Given the description of an element on the screen output the (x, y) to click on. 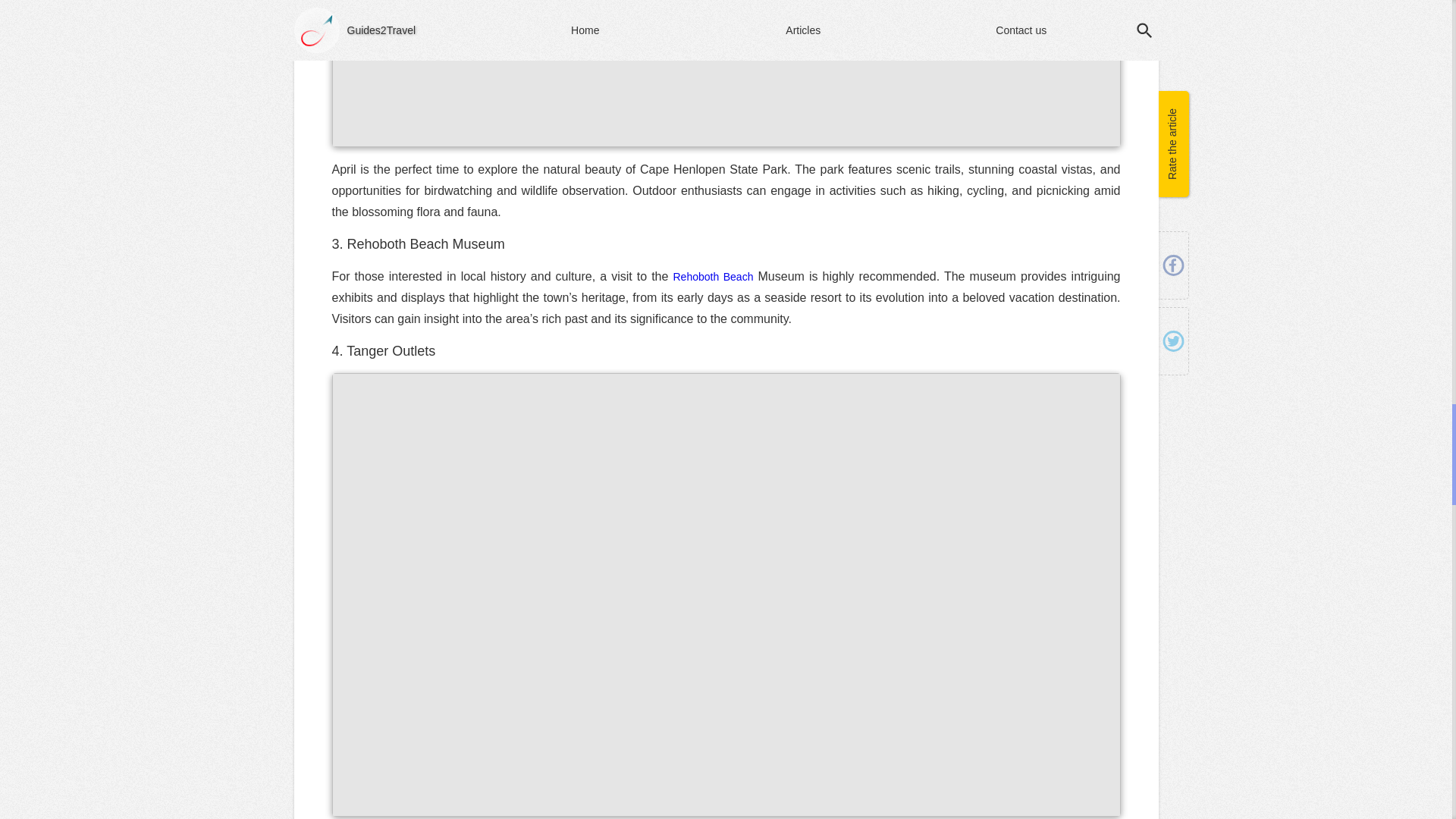
Rehoboth Beach (713, 276)
